Given the description of an element on the screen output the (x, y) to click on. 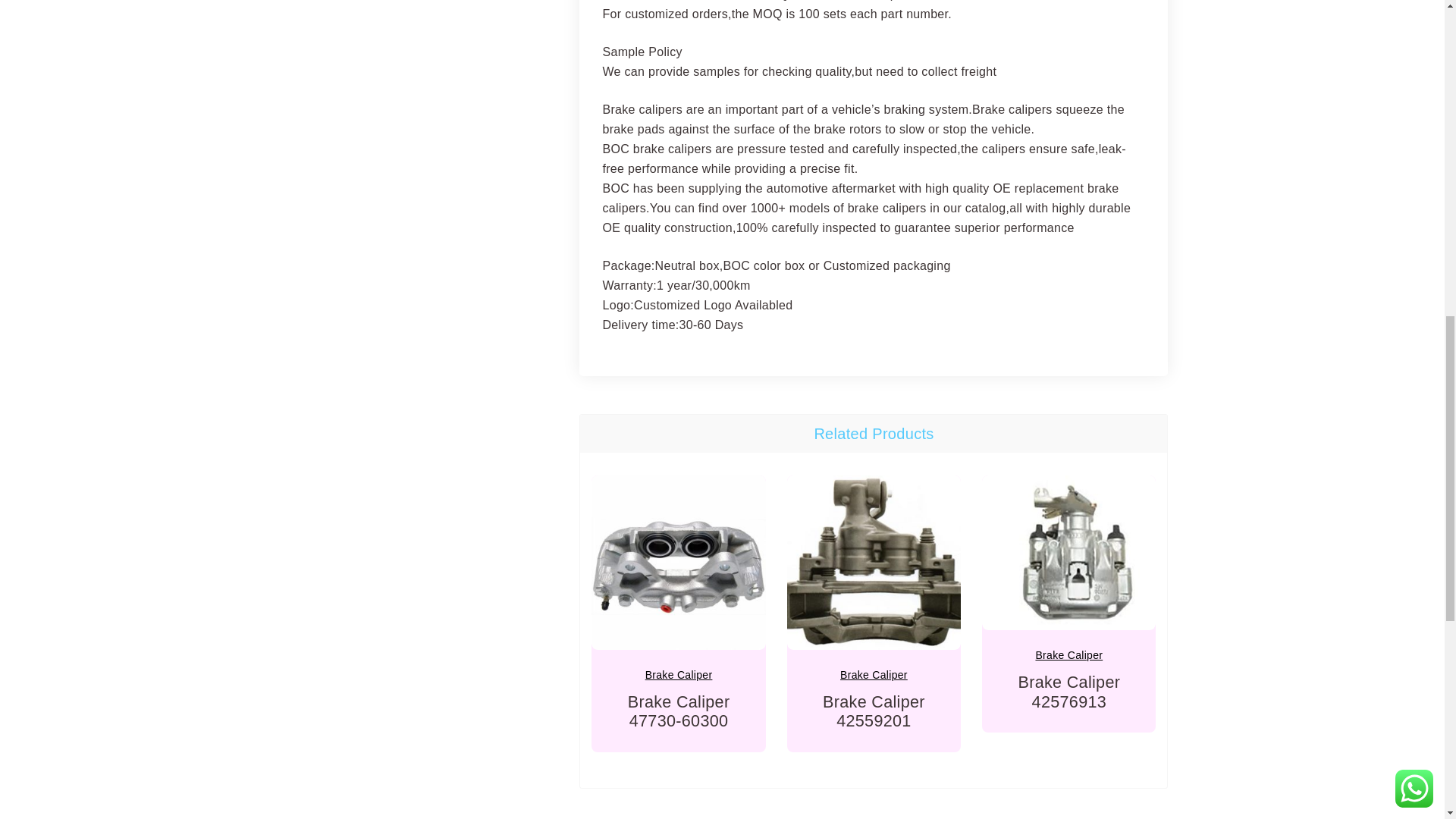
Brake Caliper (873, 674)
Brake Caliper (1068, 654)
Brake Caliper (679, 674)
